Given the description of an element on the screen output the (x, y) to click on. 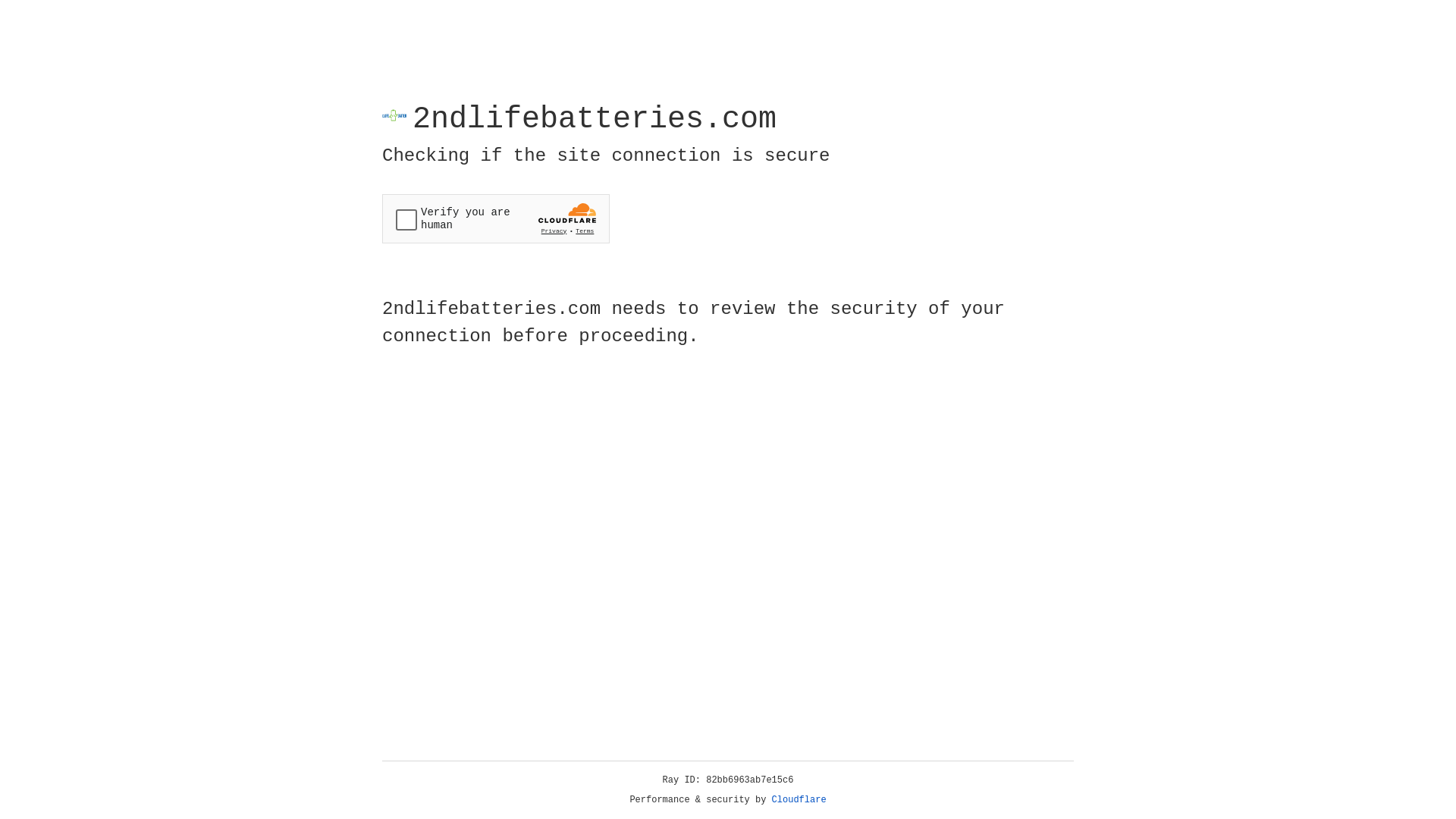
Cloudflare Element type: text (798, 799)
Widget containing a Cloudflare security challenge Element type: hover (495, 218)
